Given the description of an element on the screen output the (x, y) to click on. 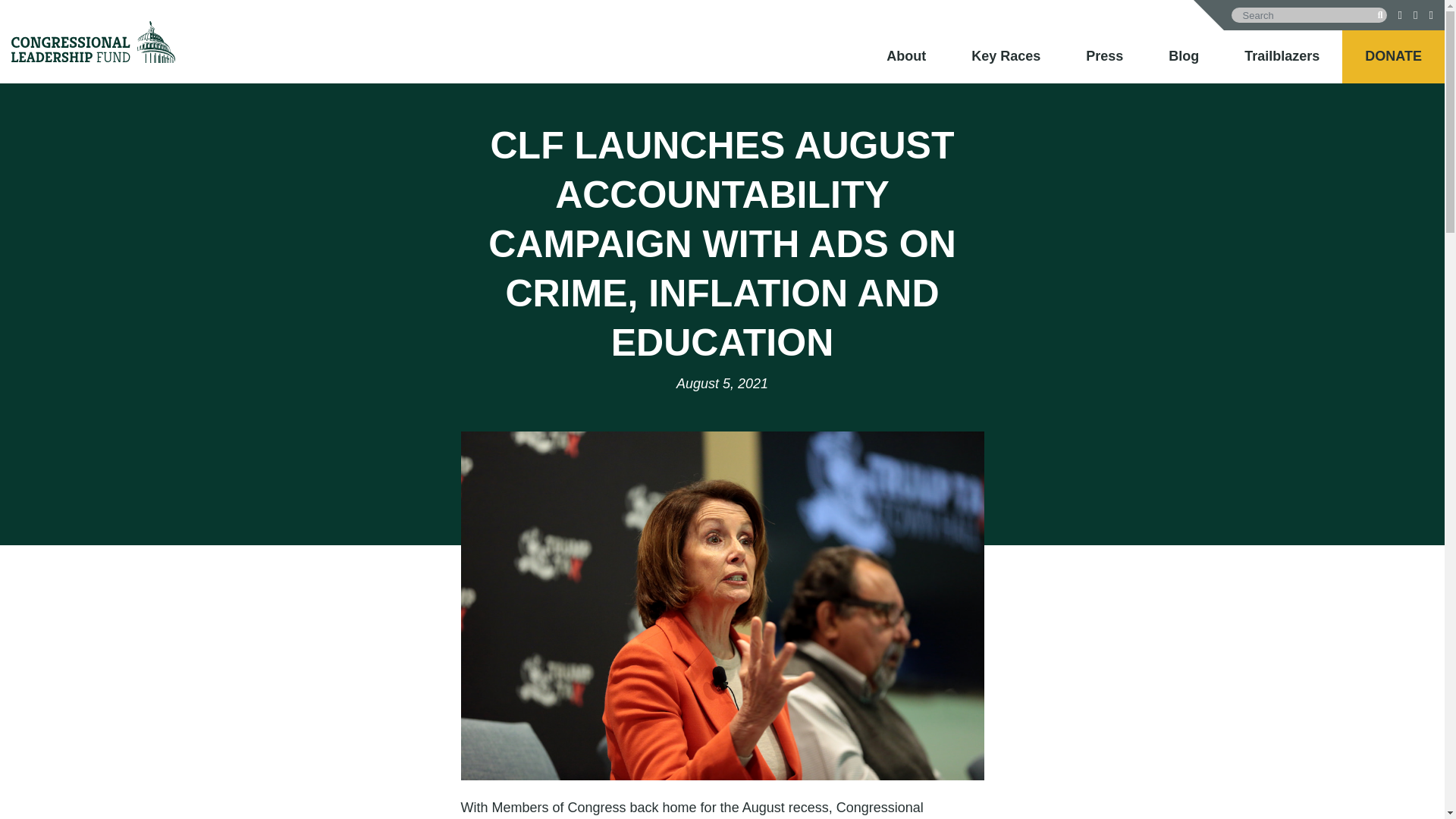
Blog (1183, 56)
Key Races (1006, 56)
Press (1104, 56)
Trailblazers (1281, 56)
DONATE (1393, 56)
About (906, 56)
